Given the description of an element on the screen output the (x, y) to click on. 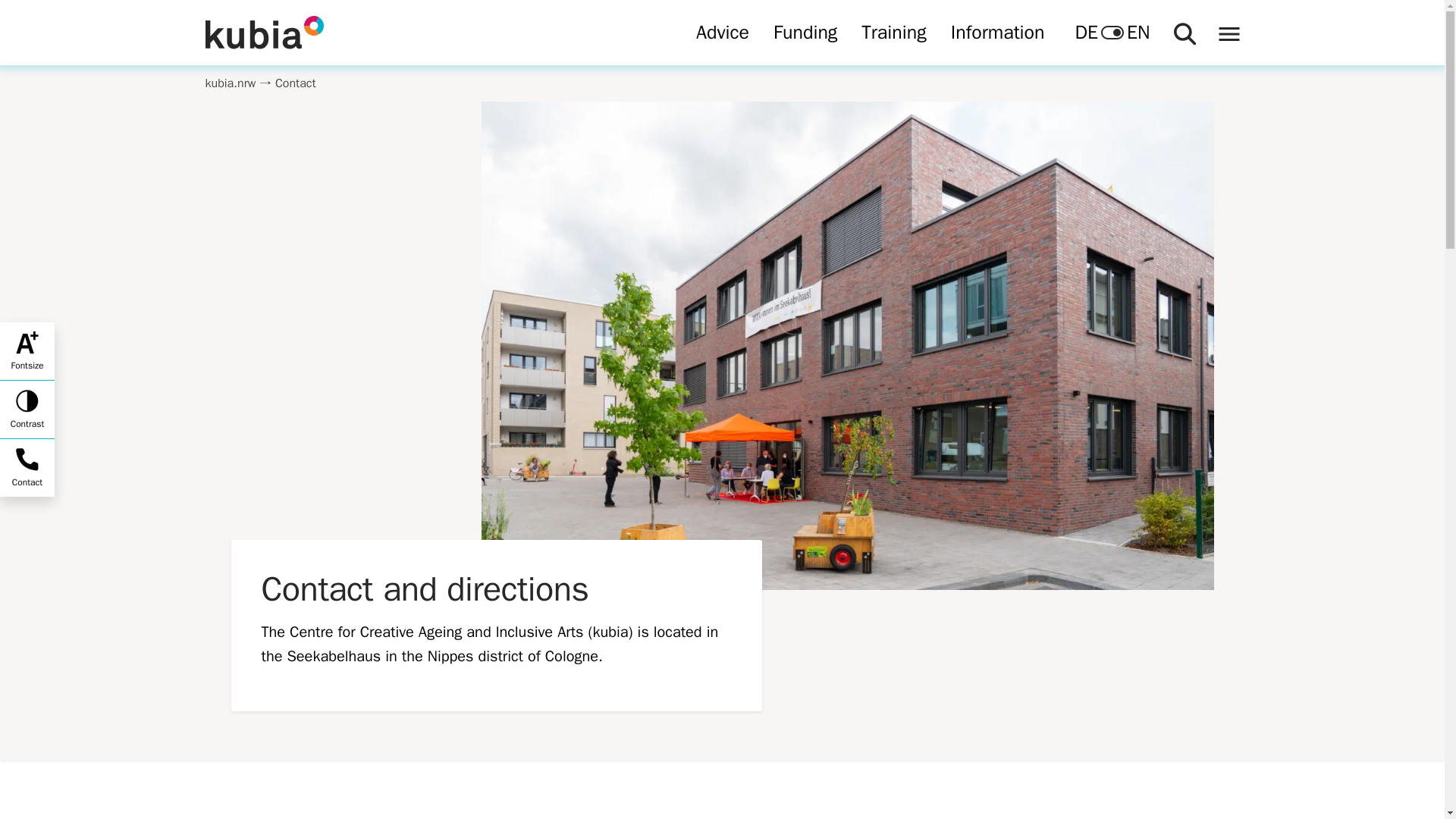
Training (892, 32)
Search (1183, 32)
kubia.nrw (230, 83)
kubia.nrw (230, 83)
Auf Deutsch schalten (1112, 32)
Search (1183, 32)
Auf Deutsch schalten (1086, 32)
Information (998, 32)
Advice (722, 32)
kubia (438, 32)
